Given the description of an element on the screen output the (x, y) to click on. 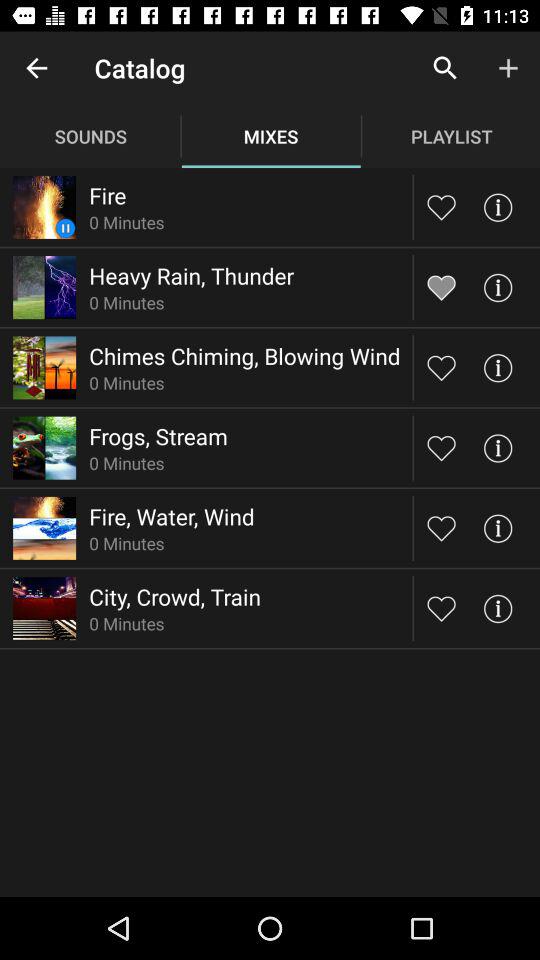
hit first message icon (498, 206)
